Given the description of an element on the screen output the (x, y) to click on. 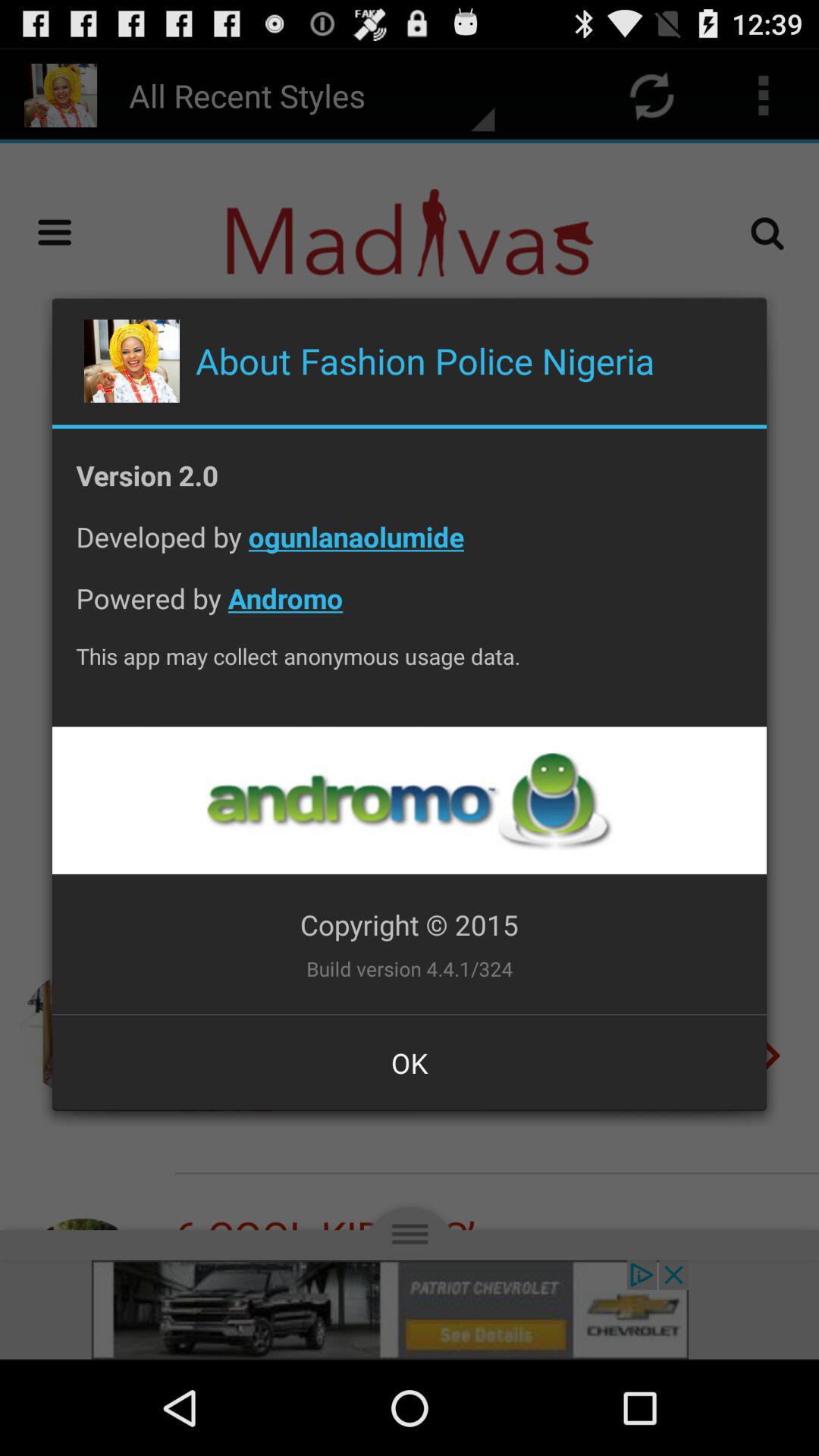
scroll until powered by andromo (409, 609)
